Given the description of an element on the screen output the (x, y) to click on. 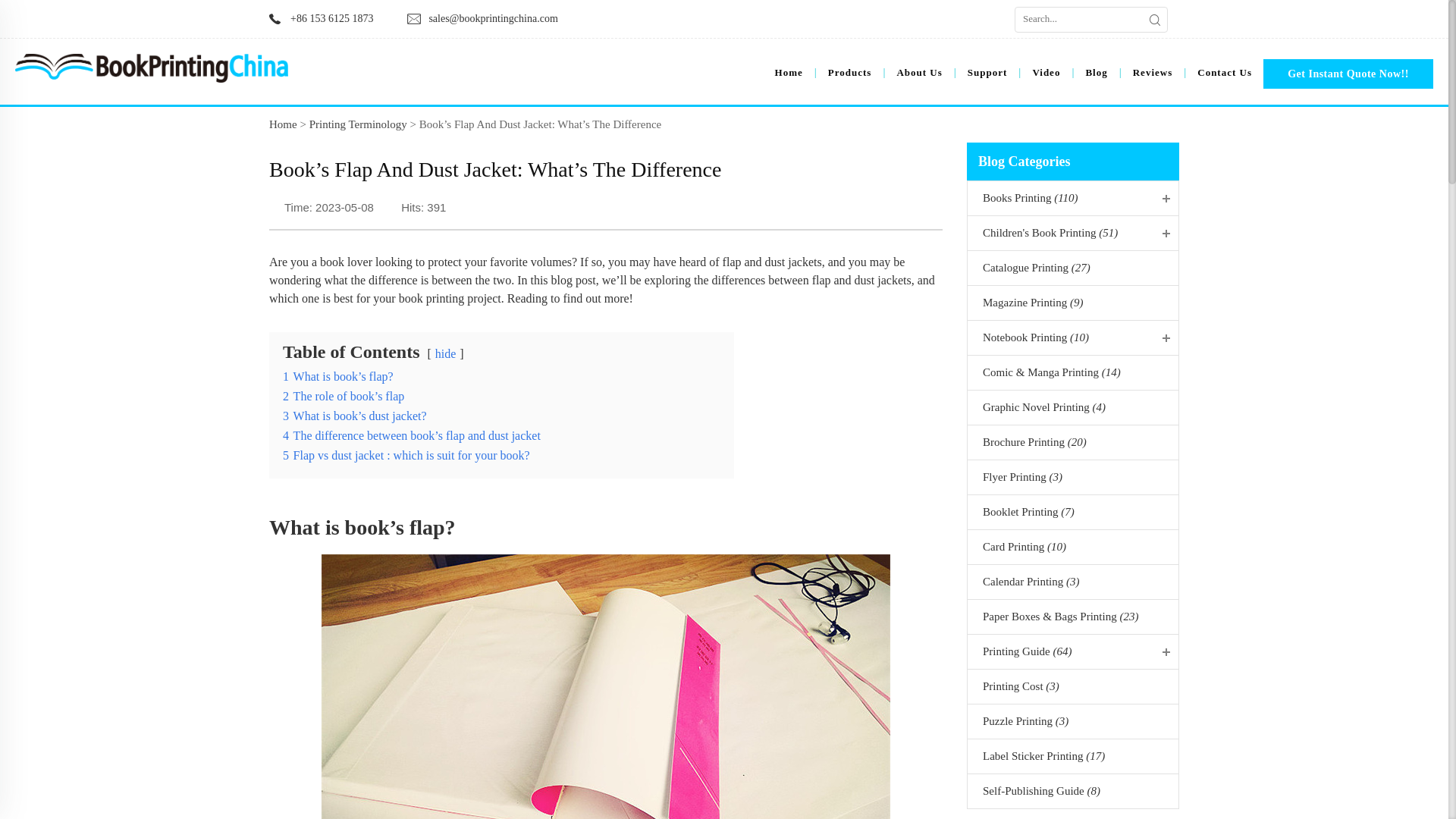
Get Instant Quote Now!! (1347, 73)
Support (987, 72)
Products (849, 72)
About Us (919, 72)
